Given the description of an element on the screen output the (x, y) to click on. 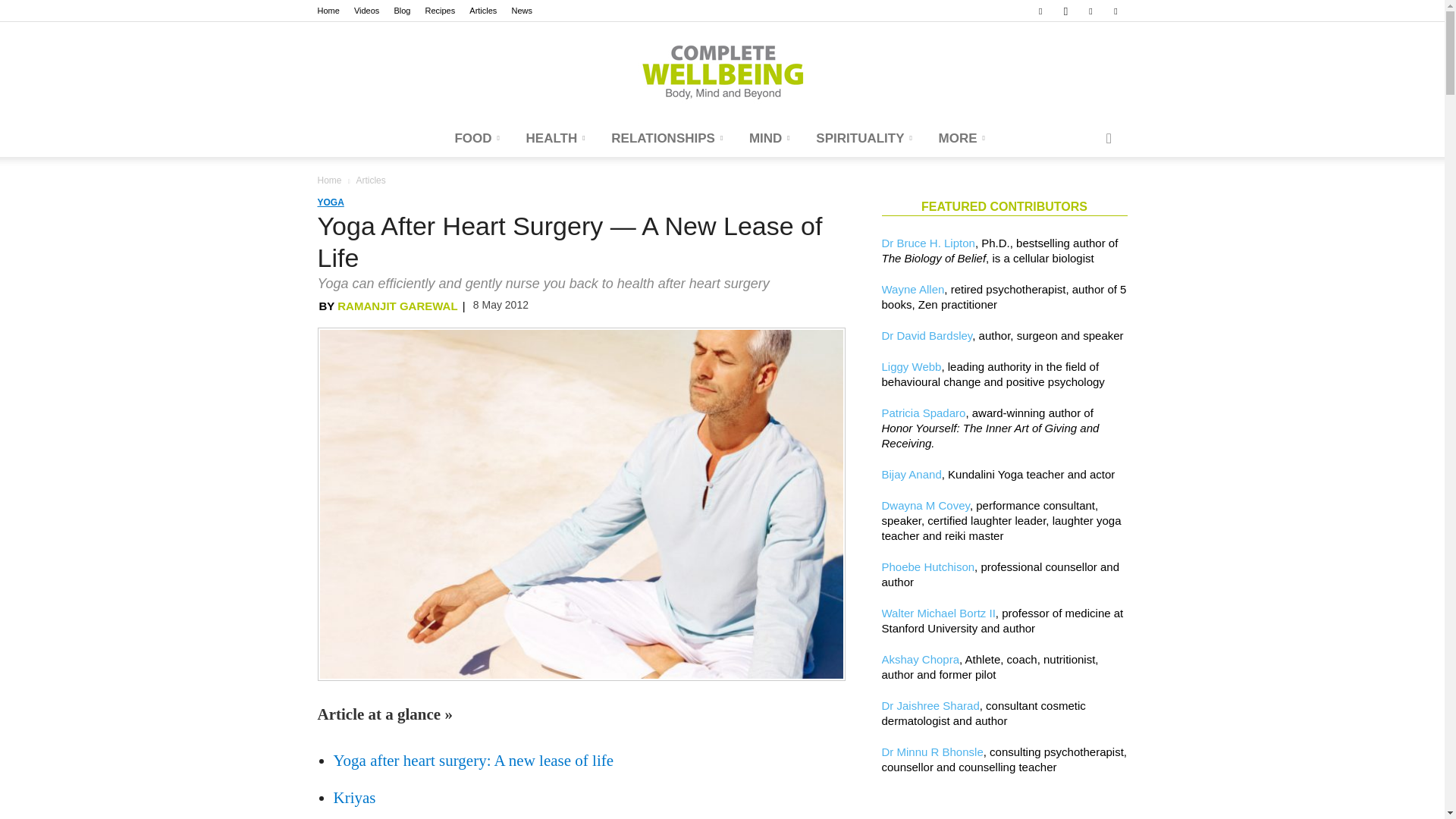
Blog (401, 10)
Pinterest (1090, 10)
Posts by Ramanjit Garewal (397, 305)
Twitter (1114, 10)
Recipes (439, 10)
Facebook (1040, 10)
Instagram (1065, 10)
Home (328, 10)
BODY, MIND AND BEYOND (721, 71)
Videos (365, 10)
